Given the description of an element on the screen output the (x, y) to click on. 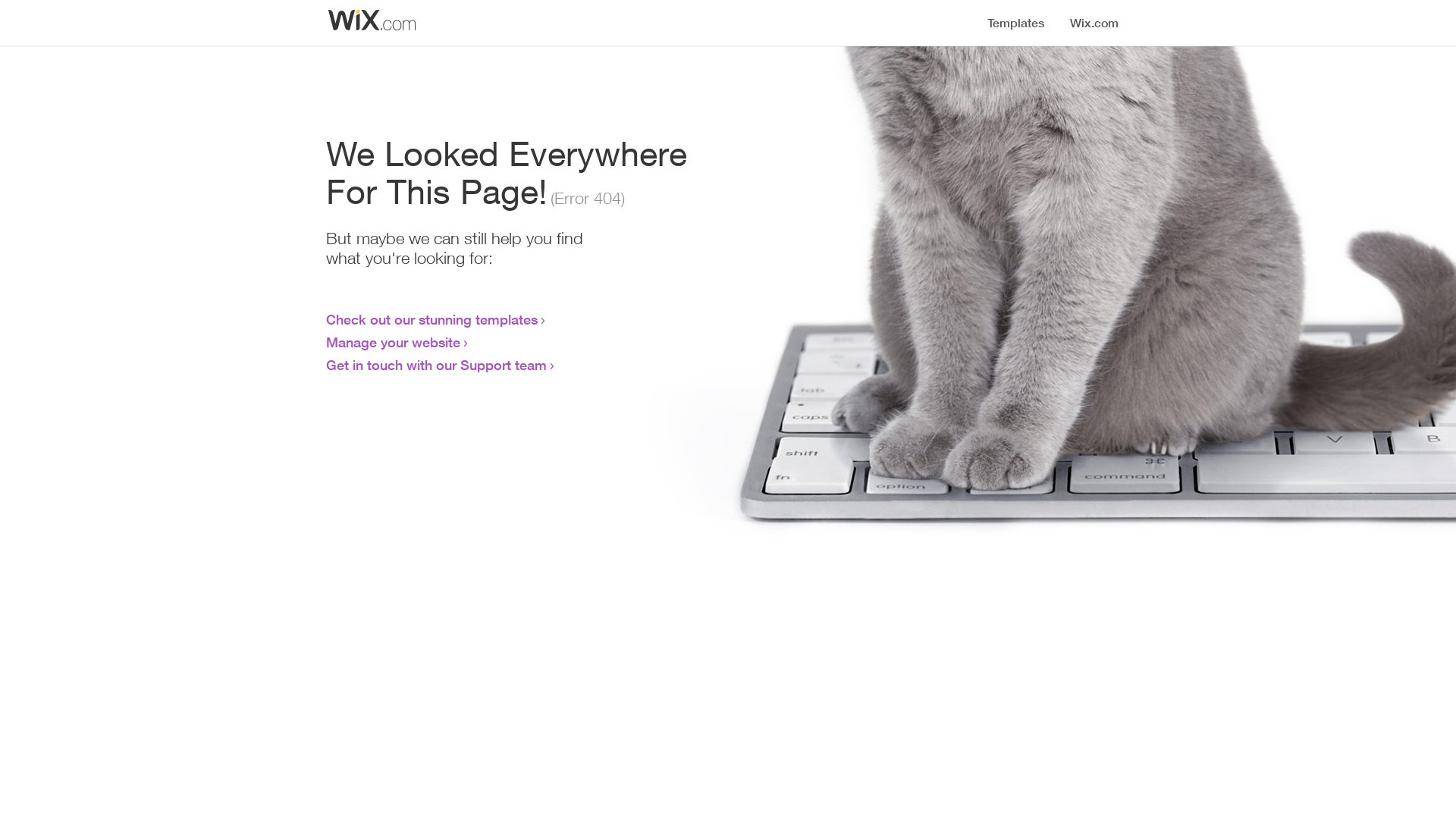
Check out our stunning templates Element type: text (431, 318)
Get in touch with our Support team Element type: text (436, 364)
Manage your website Element type: text (393, 341)
